Given the description of an element on the screen output the (x, y) to click on. 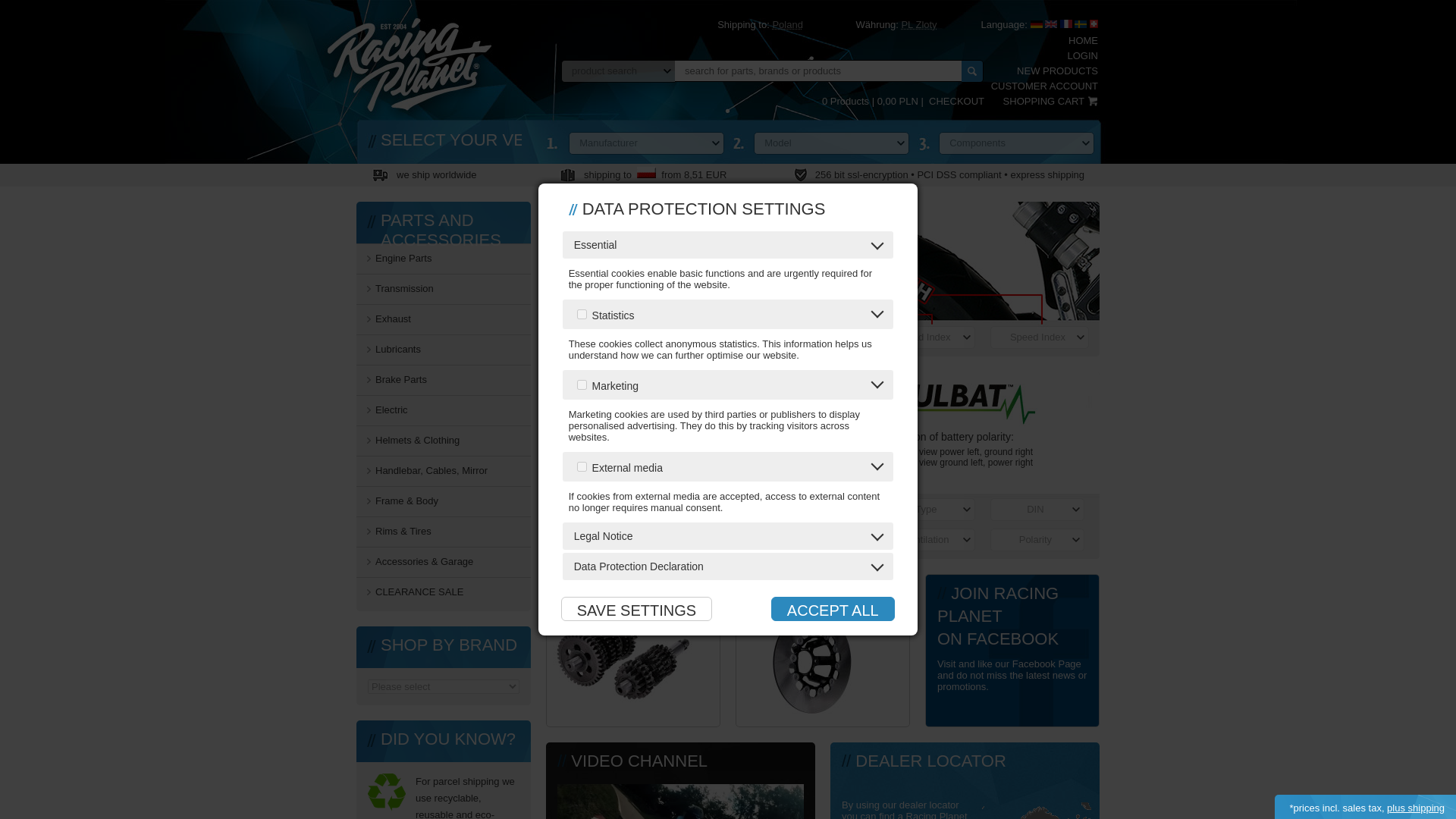
Engine Parts (443, 257)
Lubricants (443, 348)
 English  (1051, 23)
HOME (1082, 40)
on (581, 384)
CUSTOMER ACCOUNT (1044, 85)
Electric (443, 408)
CHECKOUT (956, 101)
 Swedish  (1080, 23)
SHOPPING CART (1050, 101)
NEW PRODUCTS (1056, 70)
Save settings (635, 608)
Handlebar, Cables, Mirror (443, 469)
LOGIN (1082, 55)
 Search  (972, 70)
